Given the description of an element on the screen output the (x, y) to click on. 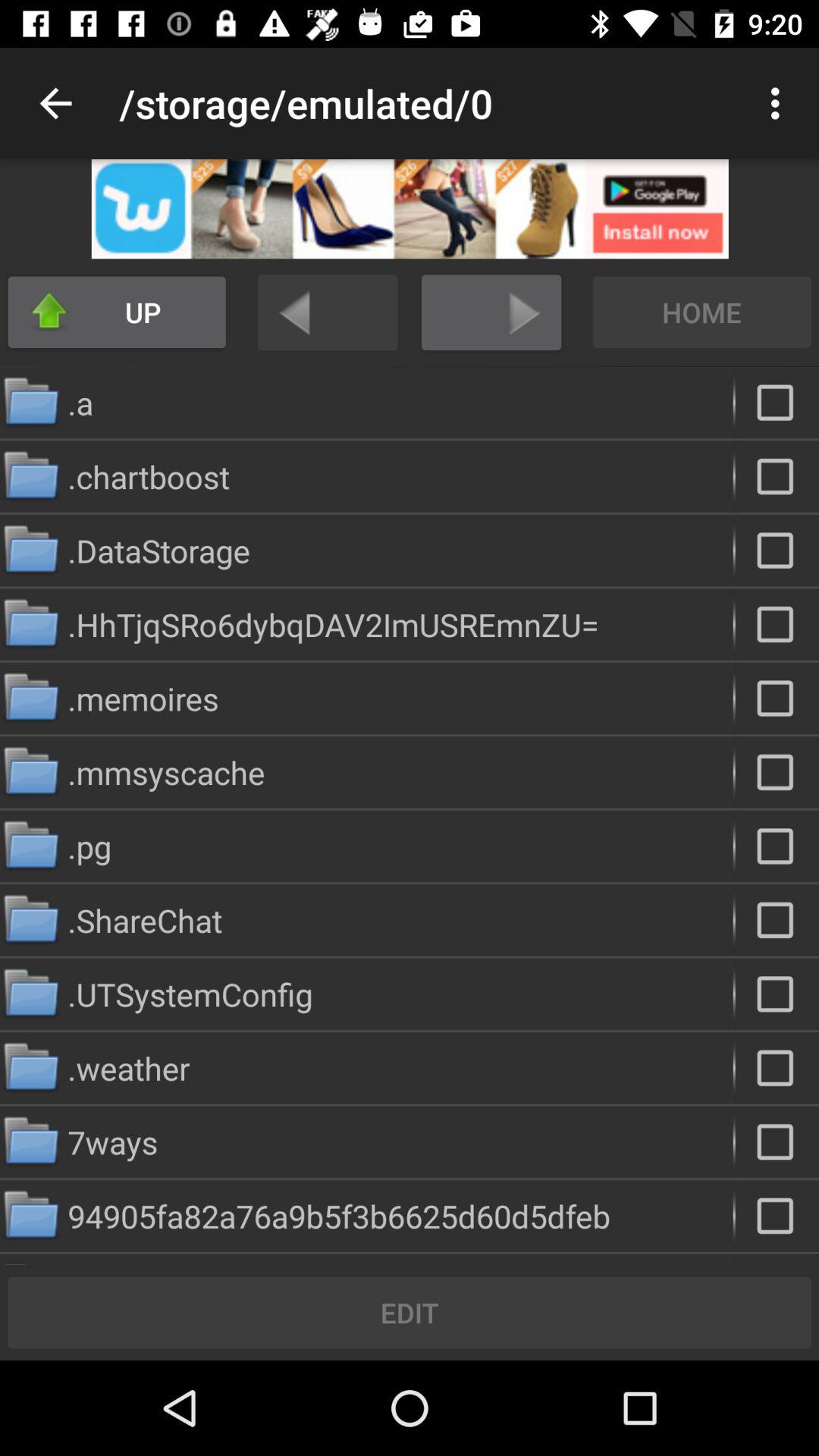
toggle folder selected (777, 402)
